Given the description of an element on the screen output the (x, y) to click on. 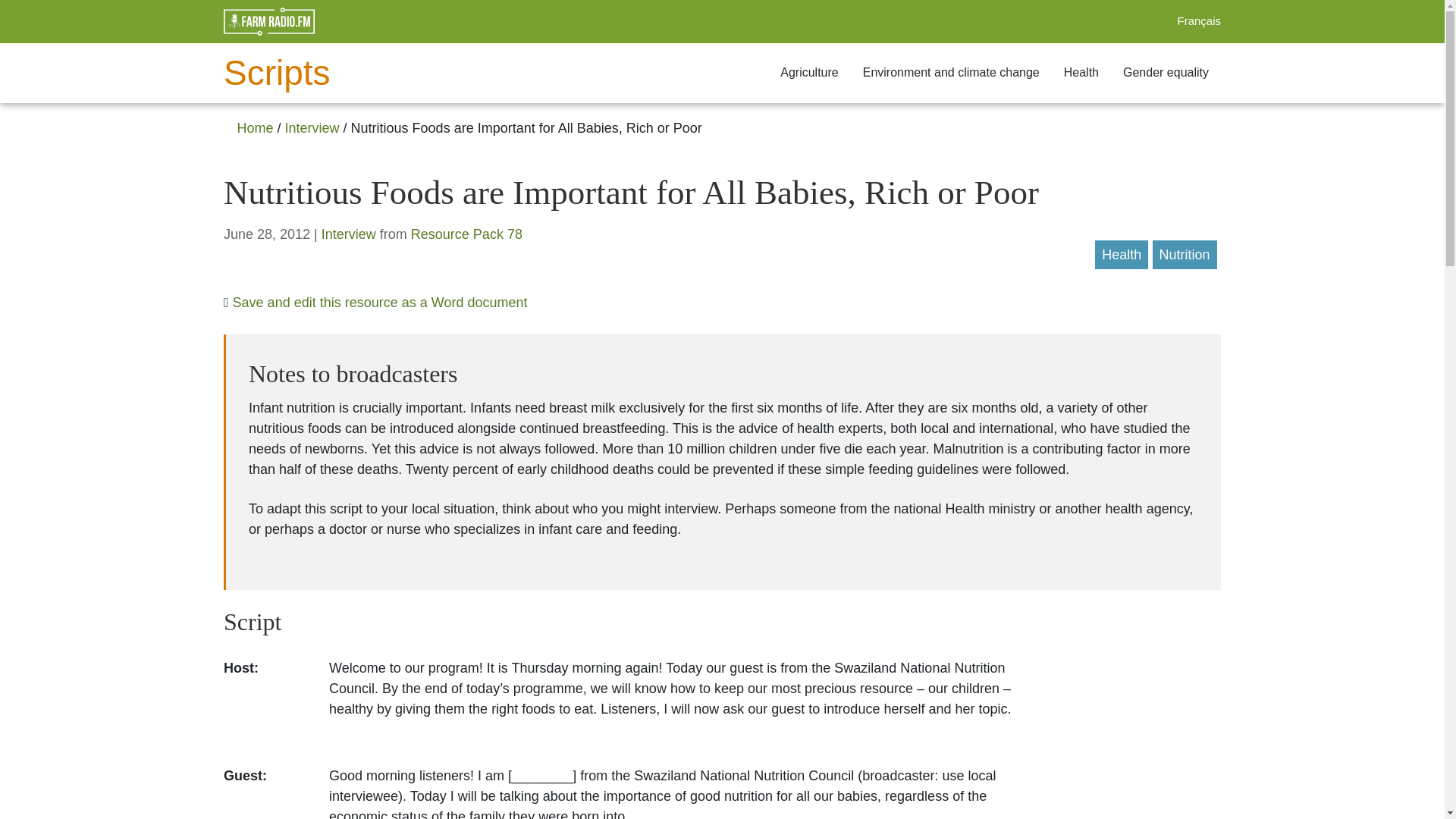
Interview (312, 127)
Health (1121, 254)
Health (1080, 72)
Home (254, 127)
Nutrition (1183, 254)
Gender equality (1165, 72)
Agriculture (809, 72)
Save and edit this resource as a Word document (379, 302)
Resource Pack 78 (466, 233)
Environment and climate change (950, 72)
